Given the description of an element on the screen output the (x, y) to click on. 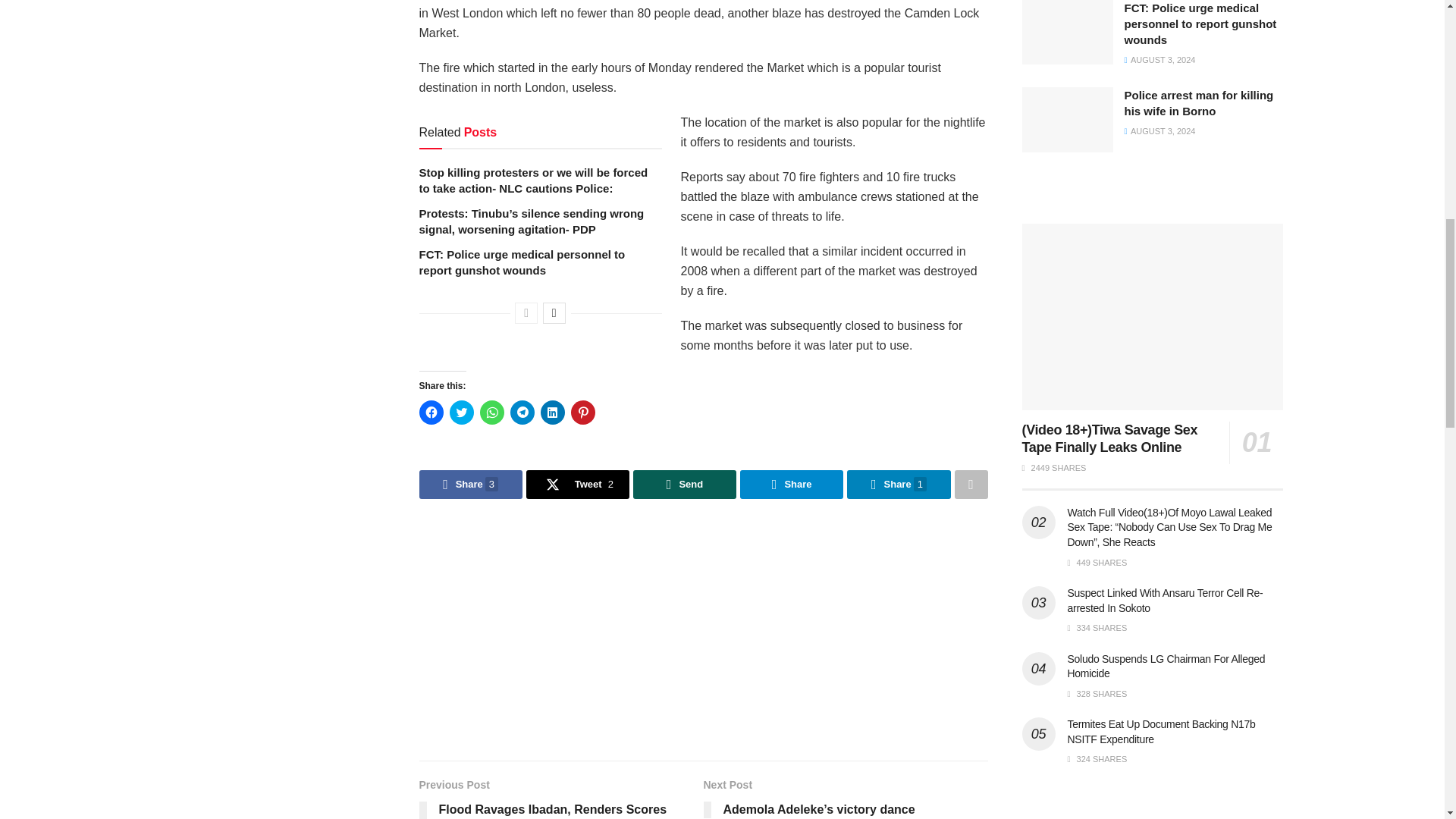
Click to share on Pinterest (582, 412)
Click to share on LinkedIn (552, 412)
Click to share on Twitter (460, 412)
Previous (526, 312)
Click to share on Facebook (430, 412)
Click to share on WhatsApp (491, 412)
Click to share on Telegram (521, 412)
Next (554, 312)
